Given the description of an element on the screen output the (x, y) to click on. 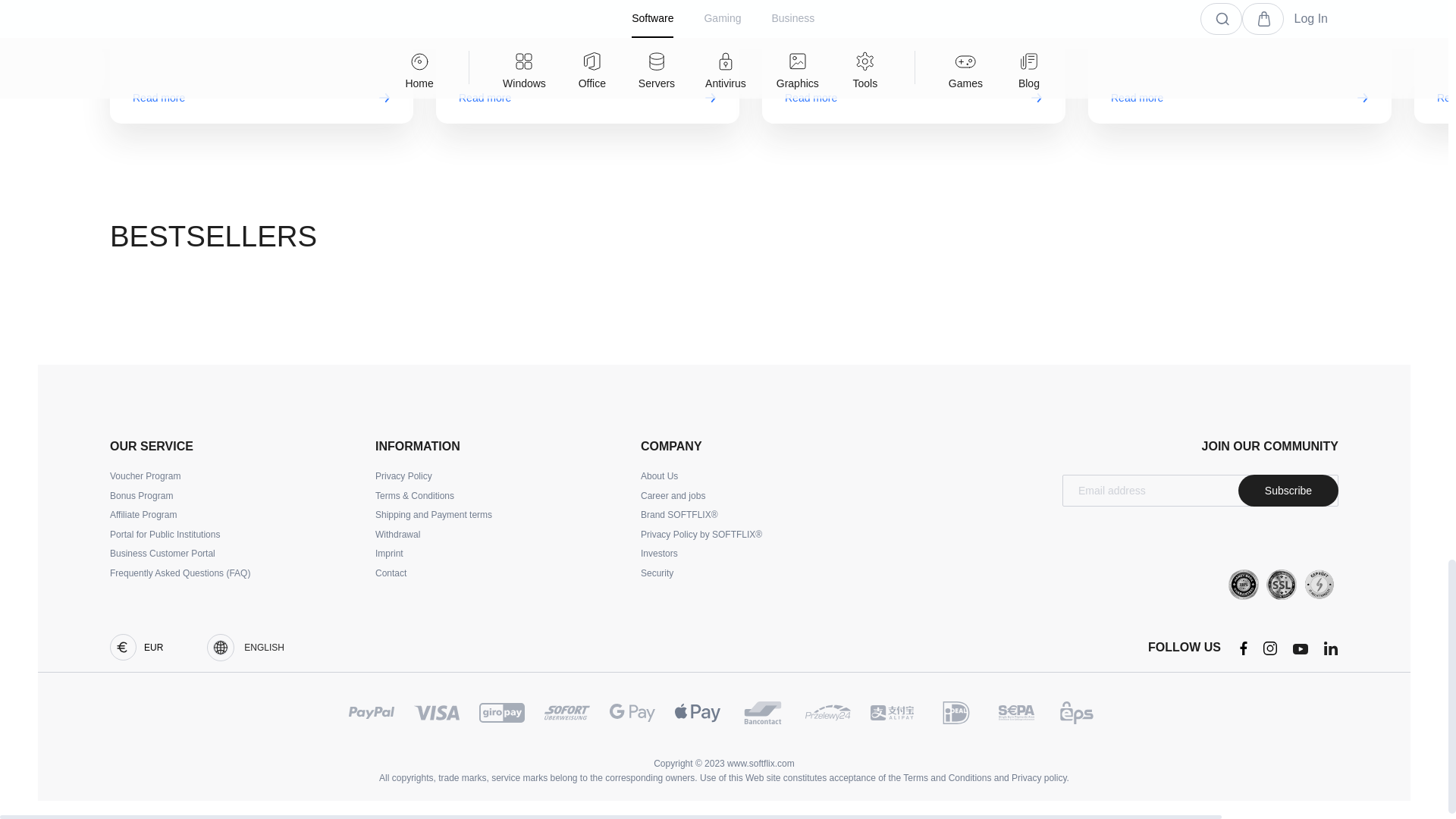
Business Customer Portal (162, 553)
Imprint (389, 553)
Privacy Policy (403, 476)
Subscribe (1288, 490)
Shipping and Payment terms (433, 515)
Contact (390, 573)
Withdrawal (397, 535)
Portal for Public Institutions (164, 535)
